Given the description of an element on the screen output the (x, y) to click on. 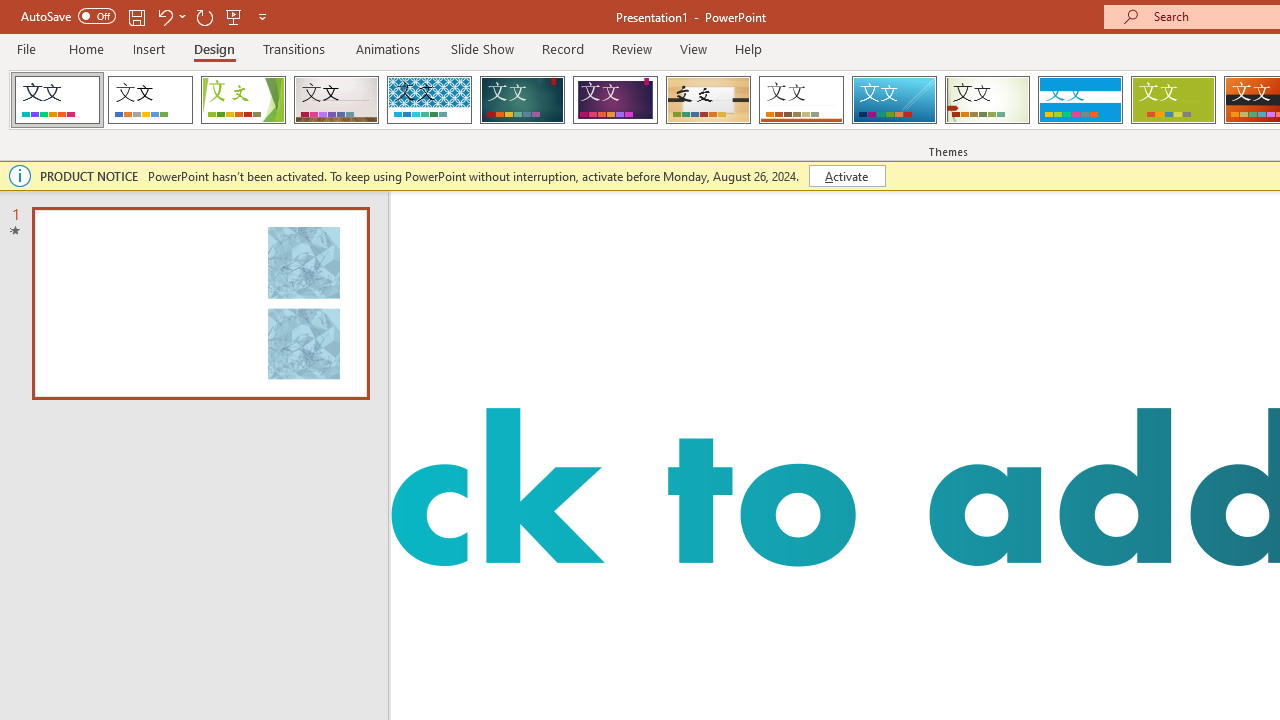
Banded (1080, 100)
Integral (429, 100)
Ion (522, 100)
Office Theme (150, 100)
Slice (893, 100)
